Given the description of an element on the screen output the (x, y) to click on. 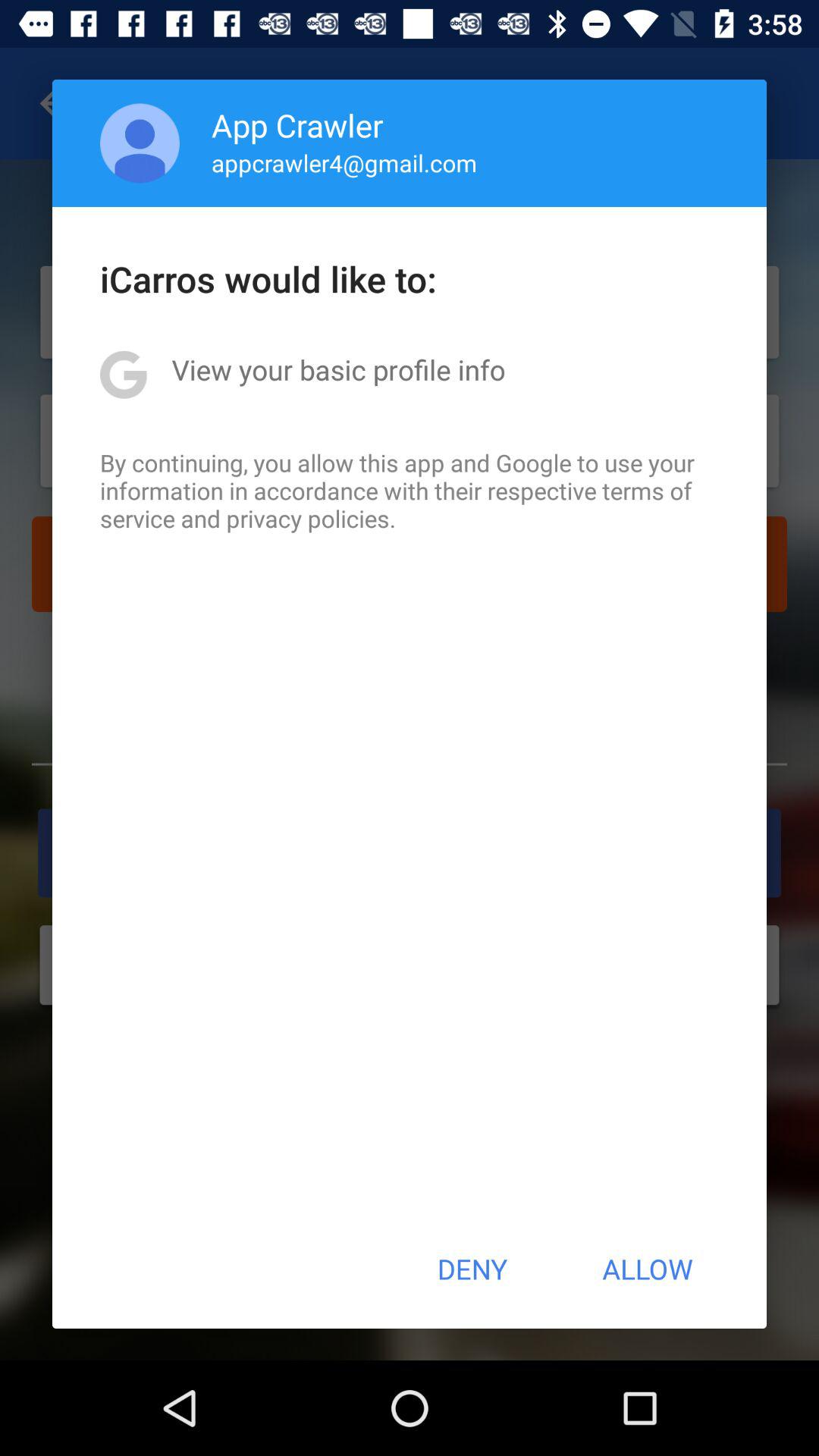
turn on view your basic item (338, 369)
